Given the description of an element on the screen output the (x, y) to click on. 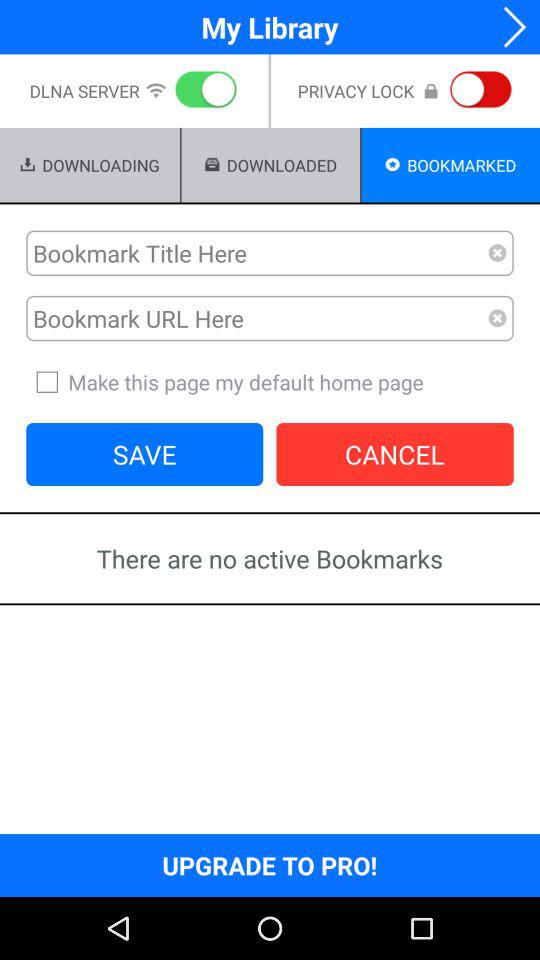
swipe to cancel (394, 454)
